Given the description of an element on the screen output the (x, y) to click on. 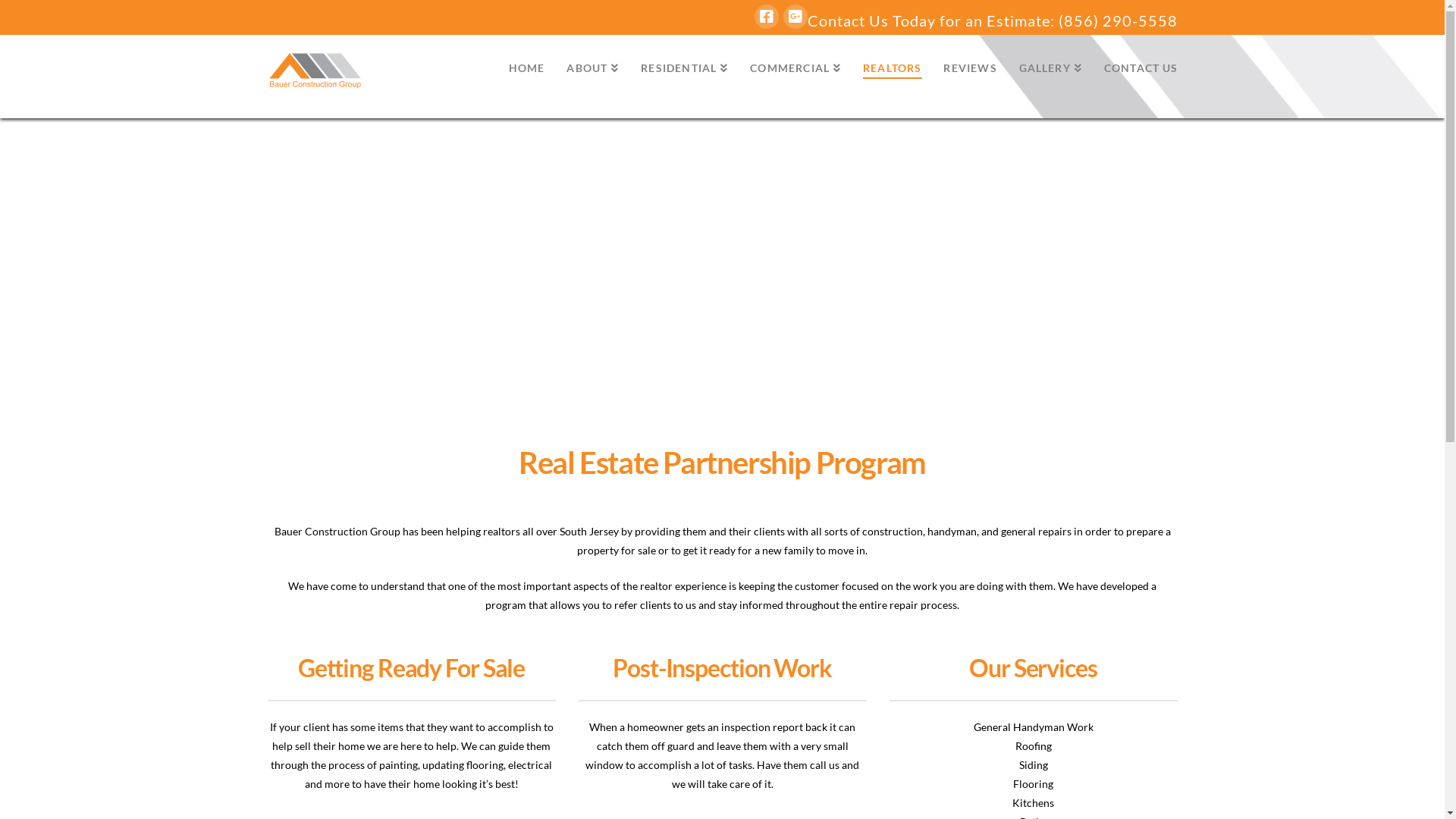
ABOUT Element type: text (592, 68)
HOME Element type: text (526, 68)
REVIEWS Element type: text (969, 68)
COMMERCIAL Element type: text (794, 68)
CONTACT US Element type: text (1134, 68)
Google+ Element type: hover (794, 16)
Facebook Element type: hover (765, 16)
RESIDENTIAL Element type: text (683, 68)
REALTORS Element type: text (891, 68)
GALLERY Element type: text (1049, 68)
